Given the description of an element on the screen output the (x, y) to click on. 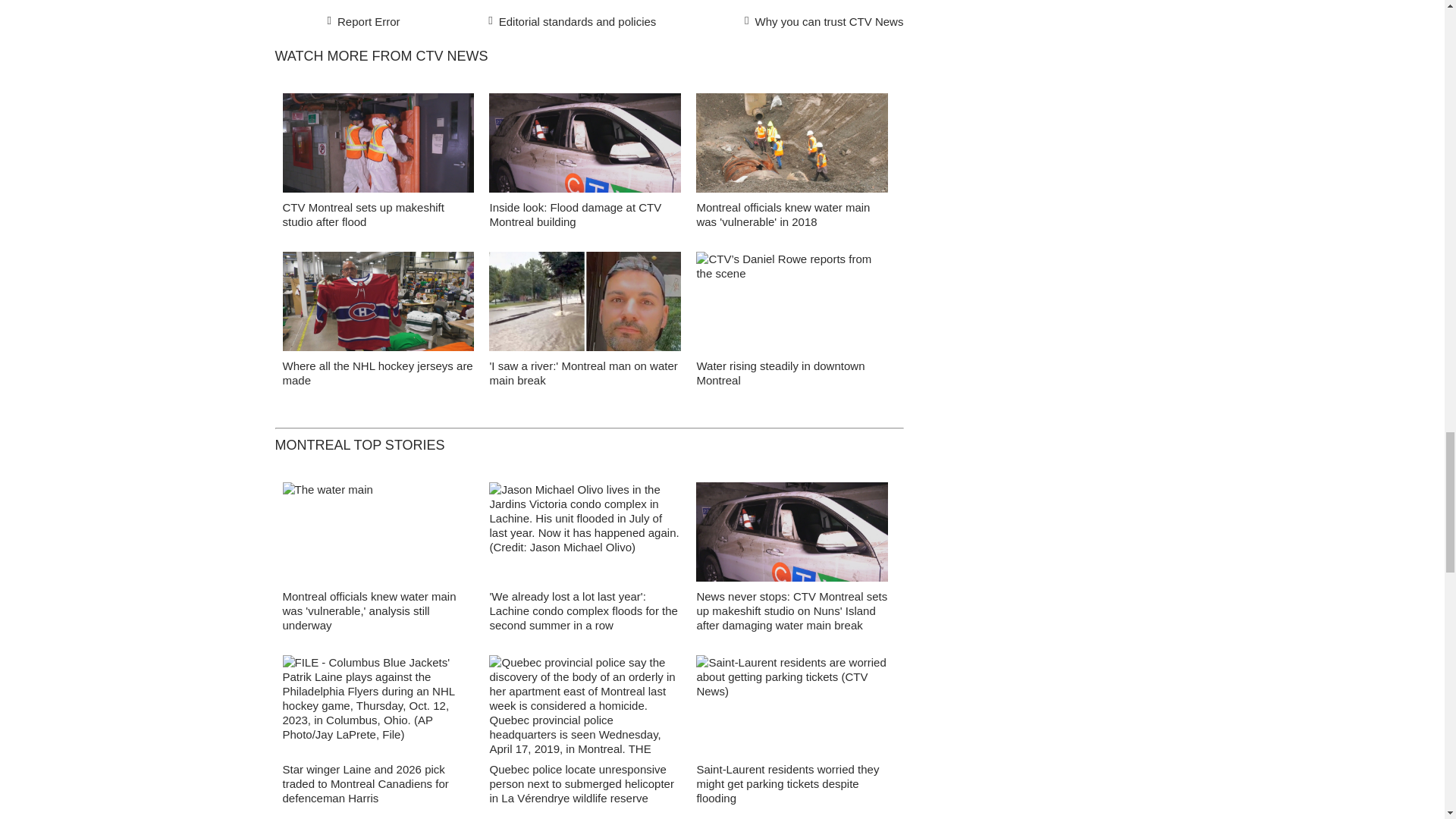
Inside look: Flood damage at CTV Montreal building (585, 146)
Montreal watermain was vulnerable (791, 146)
CTV Montreal sets up makeshift studio after flood (378, 146)
Report Error (363, 19)
